Given the description of an element on the screen output the (x, y) to click on. 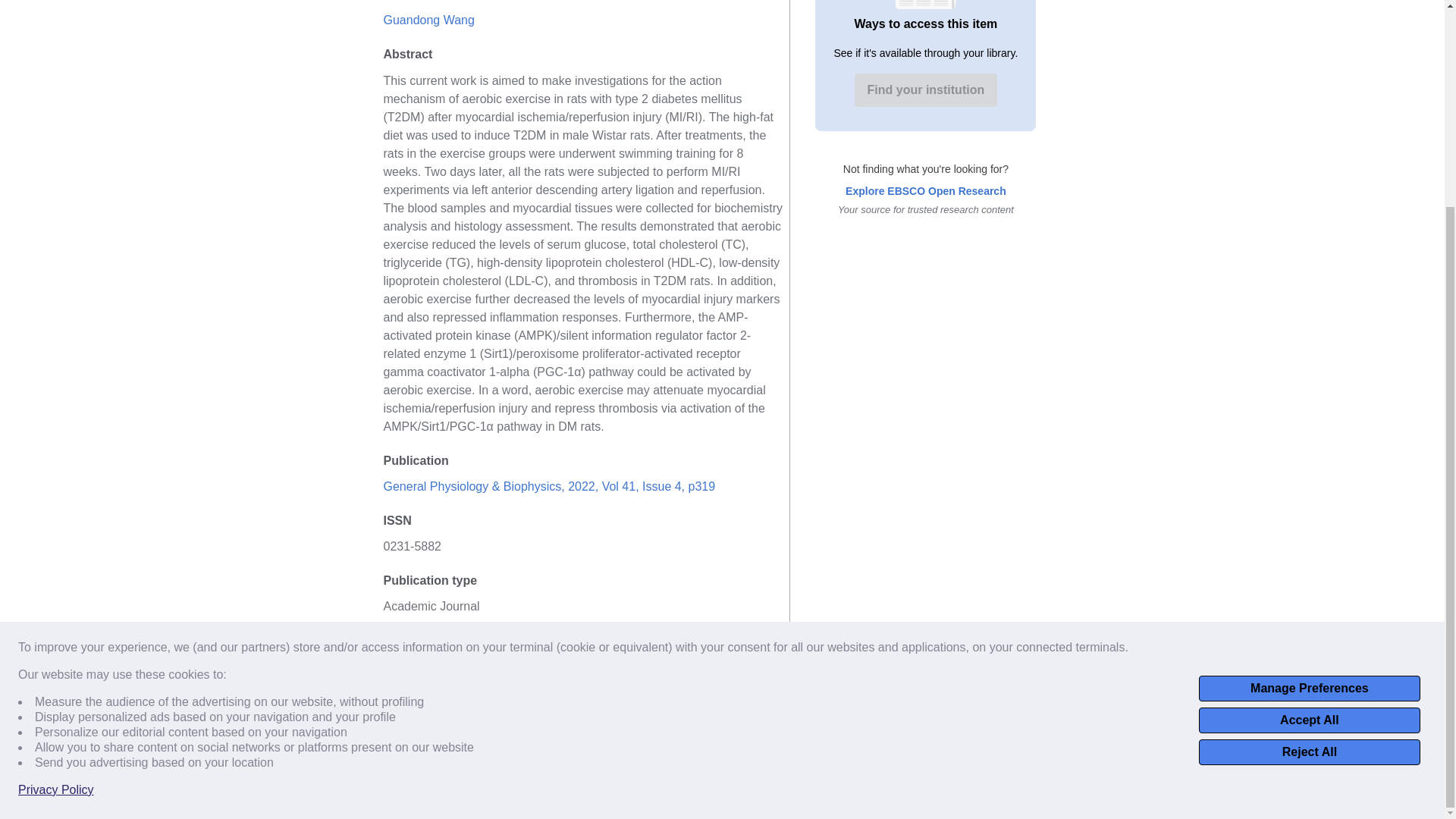
Copyright (792, 740)
Accept All (1309, 453)
Reject All (1309, 485)
Guandong Wang (429, 19)
Explore EBSCO Open Research (925, 191)
Subjects (721, 764)
Privacy policy (649, 740)
Privacy Policy (55, 523)
EBSCO Connect (564, 740)
Manage my cookies (872, 740)
